Given the description of an element on the screen output the (x, y) to click on. 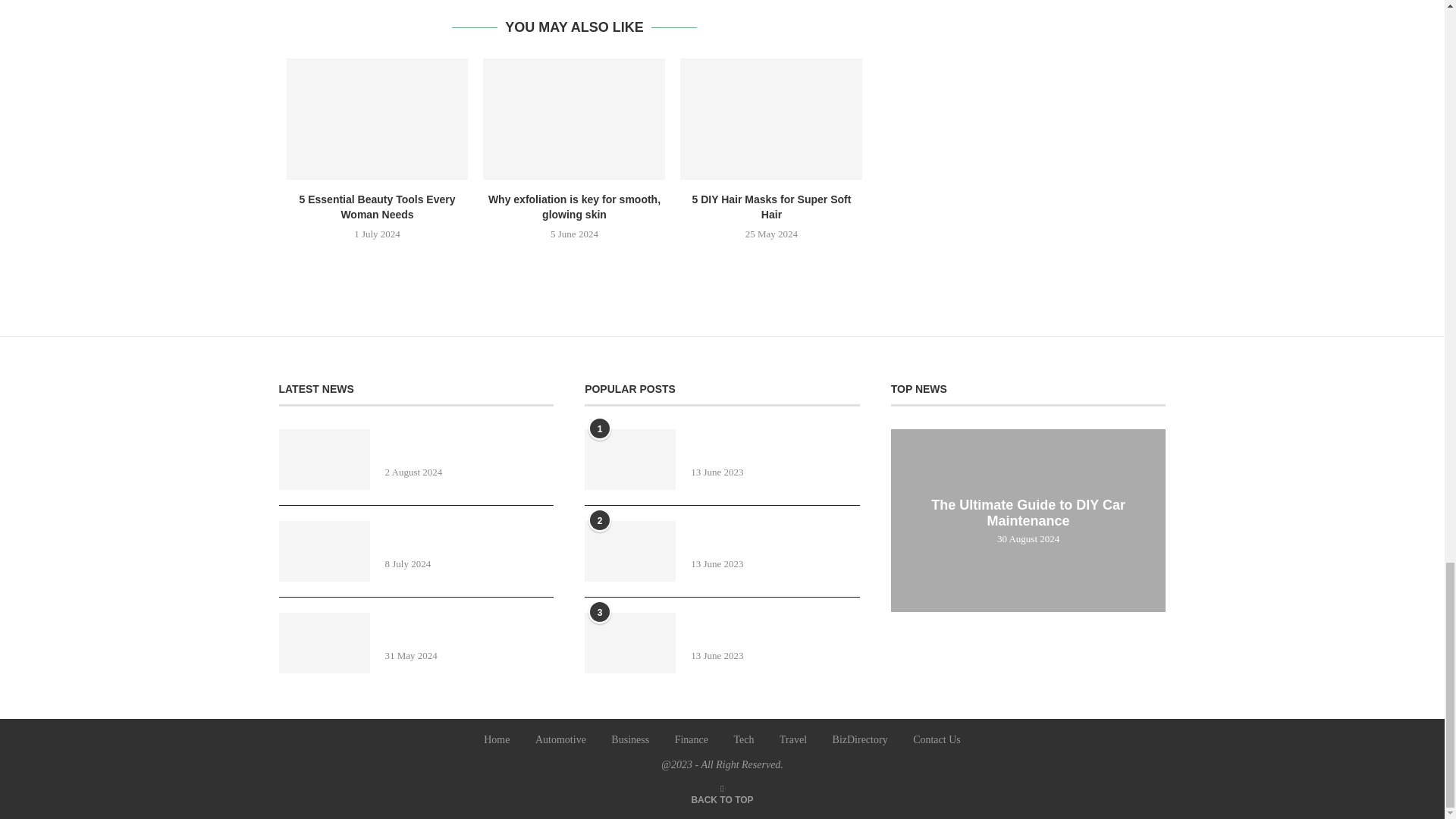
Why exfoliation is key for smooth, glowing skin (574, 118)
5 Essential Beauty Tools Every Woman Needs (377, 118)
5 DIY Hair Masks for Super Soft Hair (770, 118)
